Given the description of an element on the screen output the (x, y) to click on. 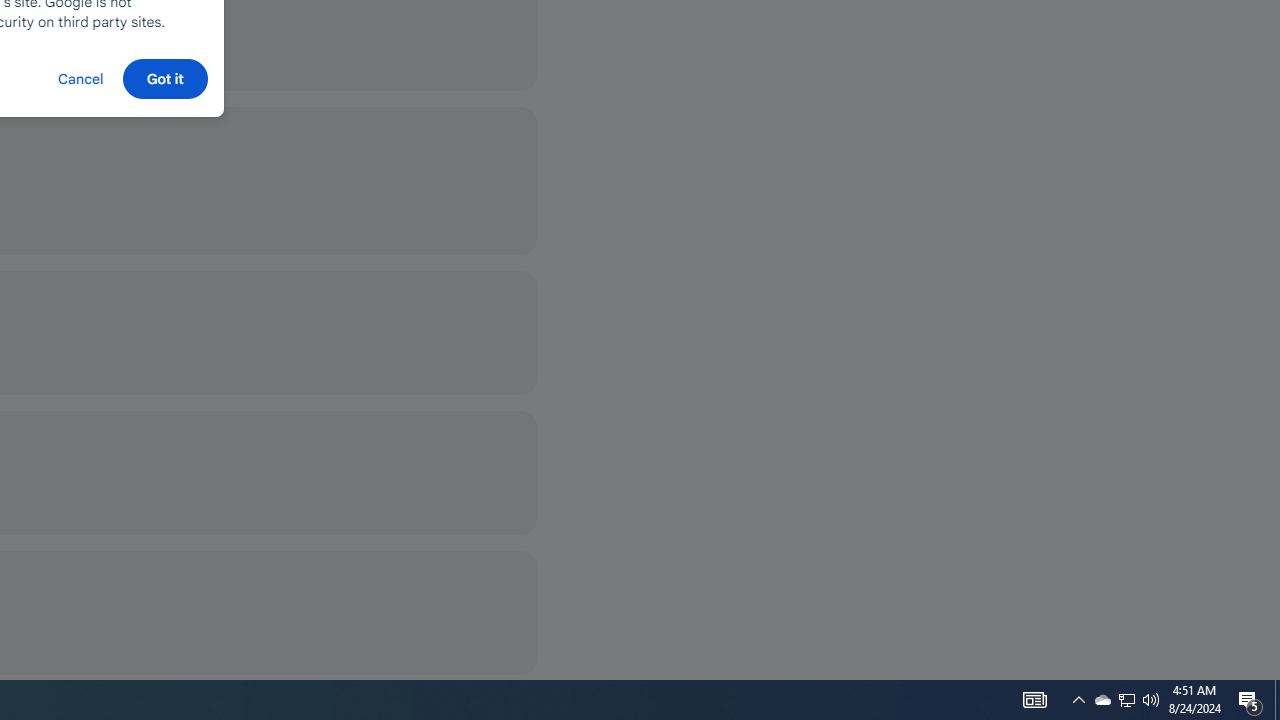
Cancel (80, 78)
Got it (164, 78)
